Given the description of an element on the screen output the (x, y) to click on. 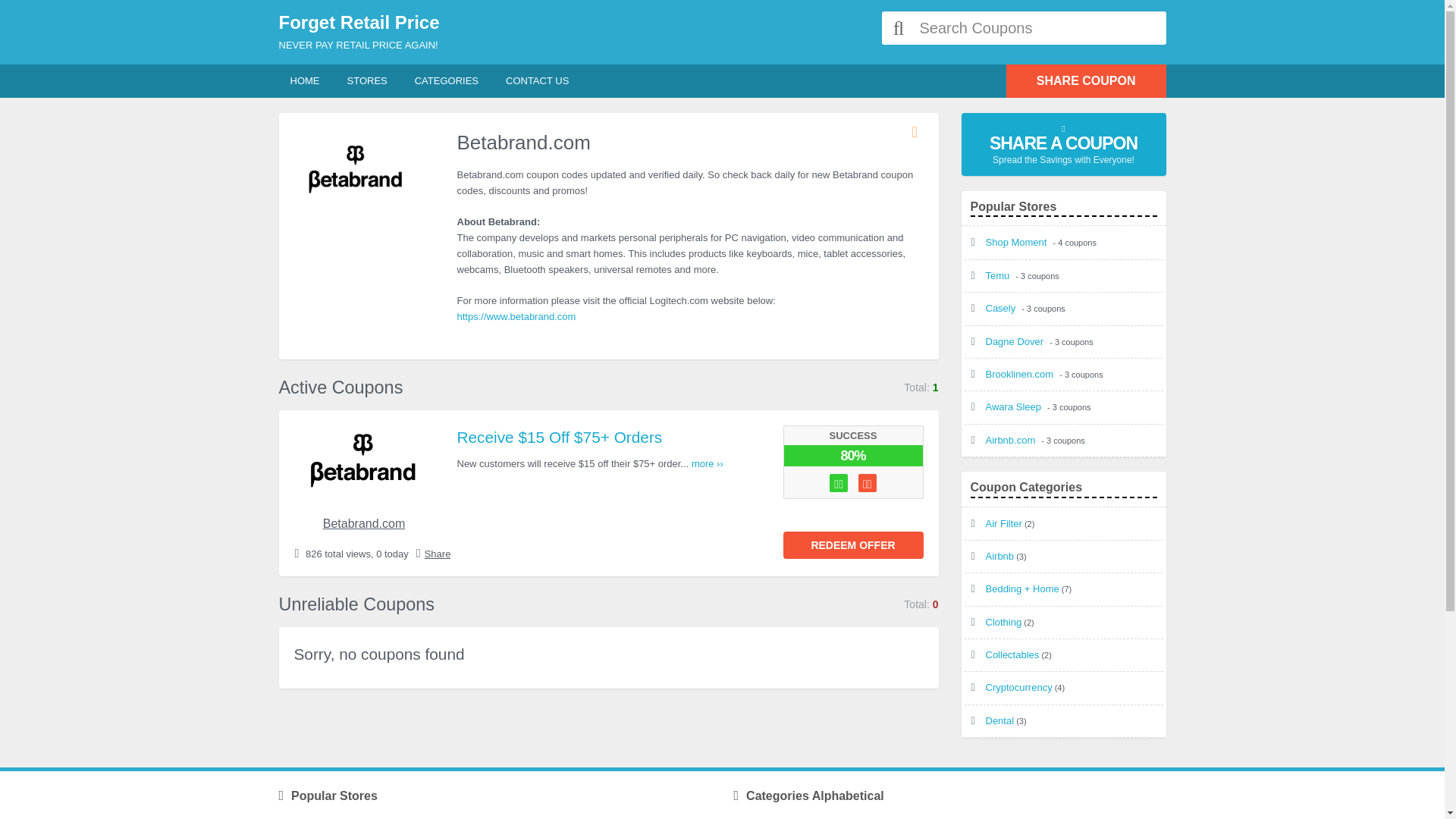
Awara Sleep (1015, 406)
Airbnb (999, 555)
Click to open site (853, 544)
REDEEM OFFER (853, 544)
Air Filter (1003, 523)
STORES (365, 80)
Airbnb.com (1012, 439)
SHARE COUPON (1086, 80)
Betabrand.com (364, 522)
Forget Retail Price (495, 22)
Store RSS (918, 131)
CONTACT US (537, 80)
Brooklinen.com (1021, 374)
Dagne Dover (1016, 341)
Share (438, 553)
